Given the description of an element on the screen output the (x, y) to click on. 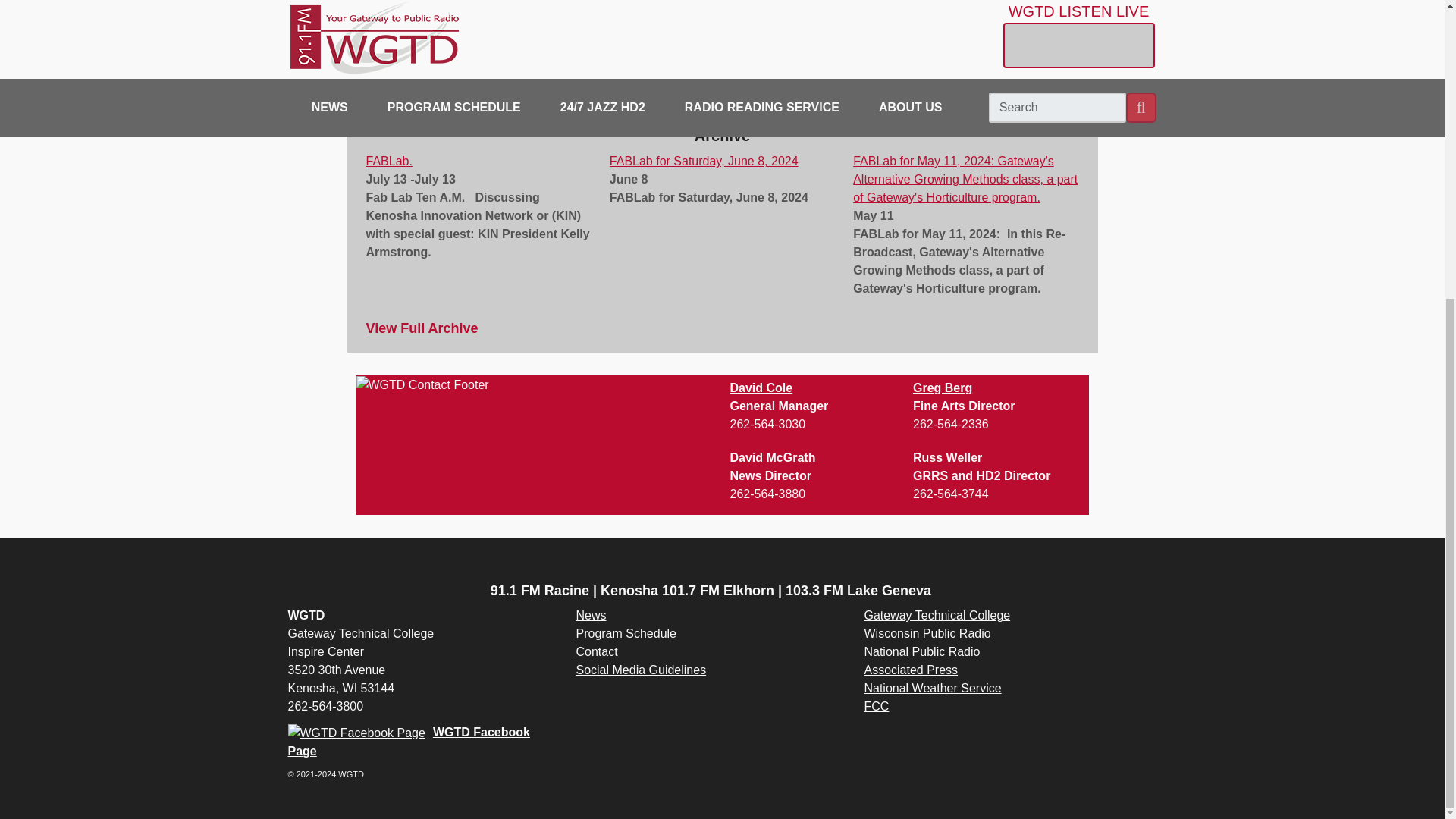
Greg Berg (942, 387)
View Full Archive (421, 328)
Gateway Technical College (936, 615)
National Public Radio (921, 651)
News (590, 615)
National Weather Service (932, 687)
Russ Weller (946, 457)
Program Schedule (626, 633)
David McGrath (772, 457)
FABLab. (388, 160)
WGTD Facebook Page (408, 741)
FCC (875, 706)
Contact (596, 651)
Social Media Guidelines (640, 669)
